Given the description of an element on the screen output the (x, y) to click on. 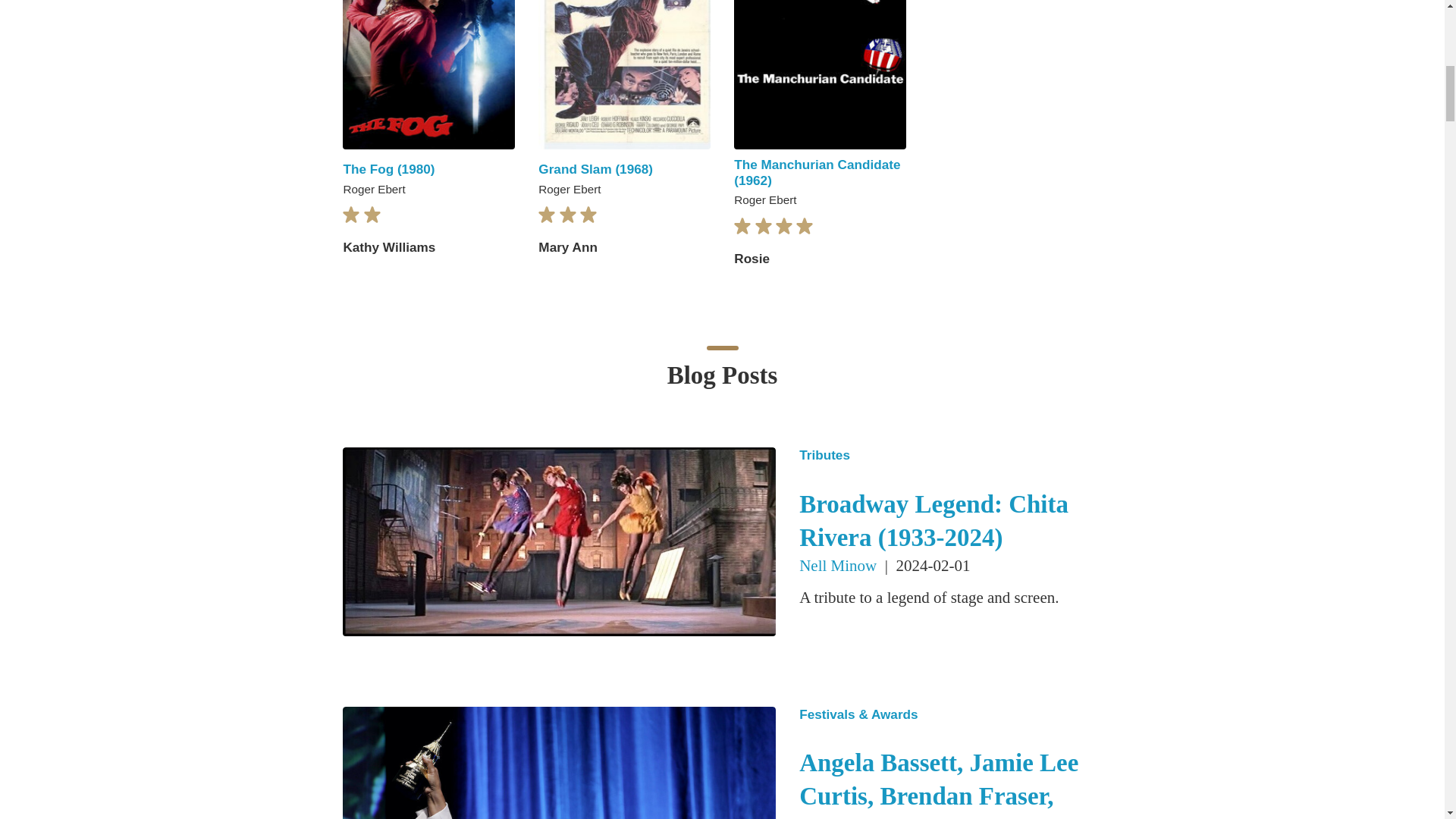
star-full (587, 214)
star-full (763, 226)
star-full (567, 214)
Tributes (949, 455)
star-full (742, 226)
star-full (372, 214)
star-full (350, 214)
Nell Minow (839, 565)
star-full (546, 214)
